Given the description of an element on the screen output the (x, y) to click on. 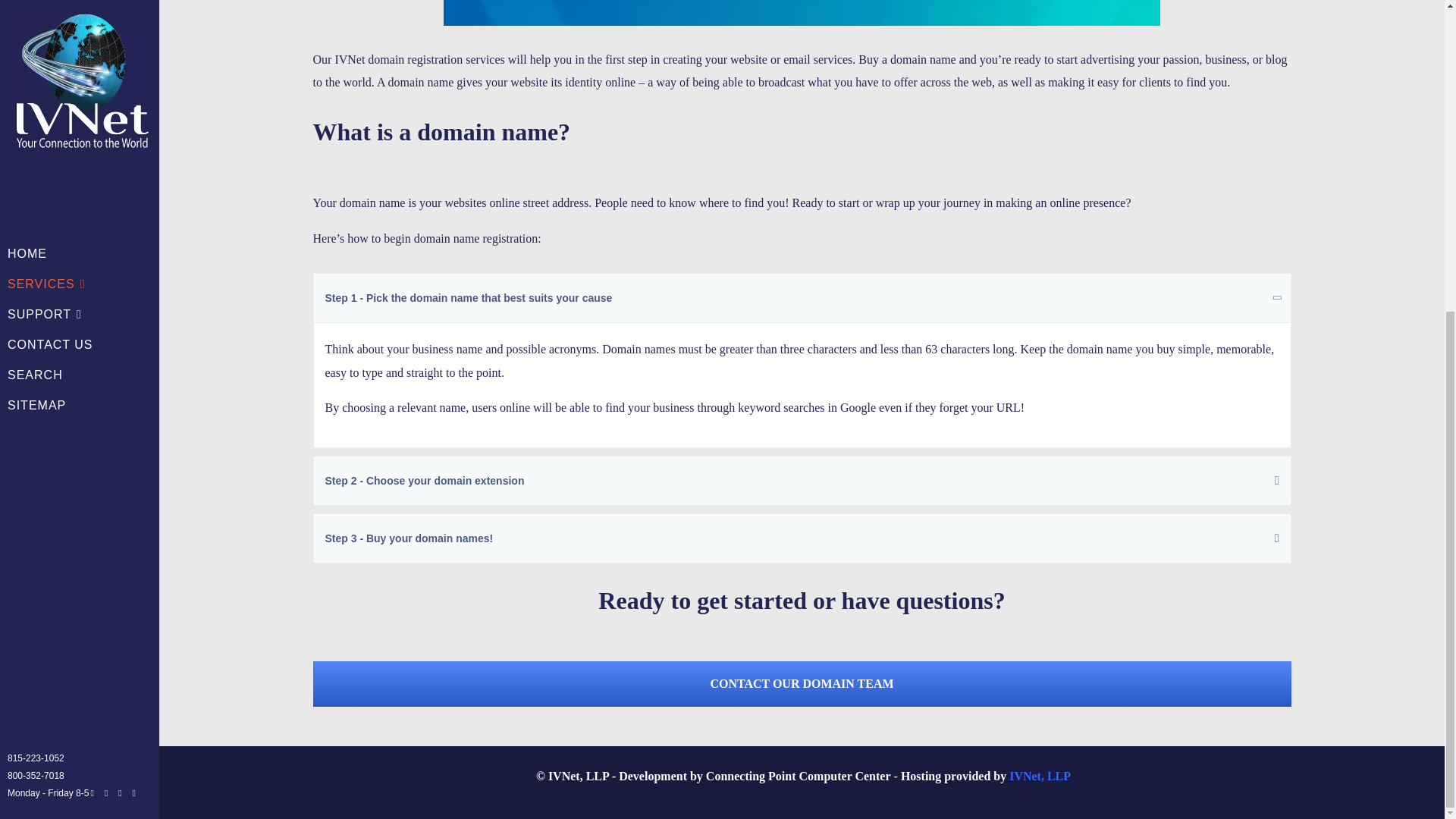
Hosting by IVNet, LLP (1039, 775)
815-223-1052 (35, 261)
Step 2 - Choose your domain extension (802, 480)
Step 3 - Buy your domain names! (802, 538)
800-352-7018 (35, 278)
Step 1 - Pick the domain name that best suits your cause (802, 297)
Development by Connecting Point Computer Center (798, 775)
